Given the description of an element on the screen output the (x, y) to click on. 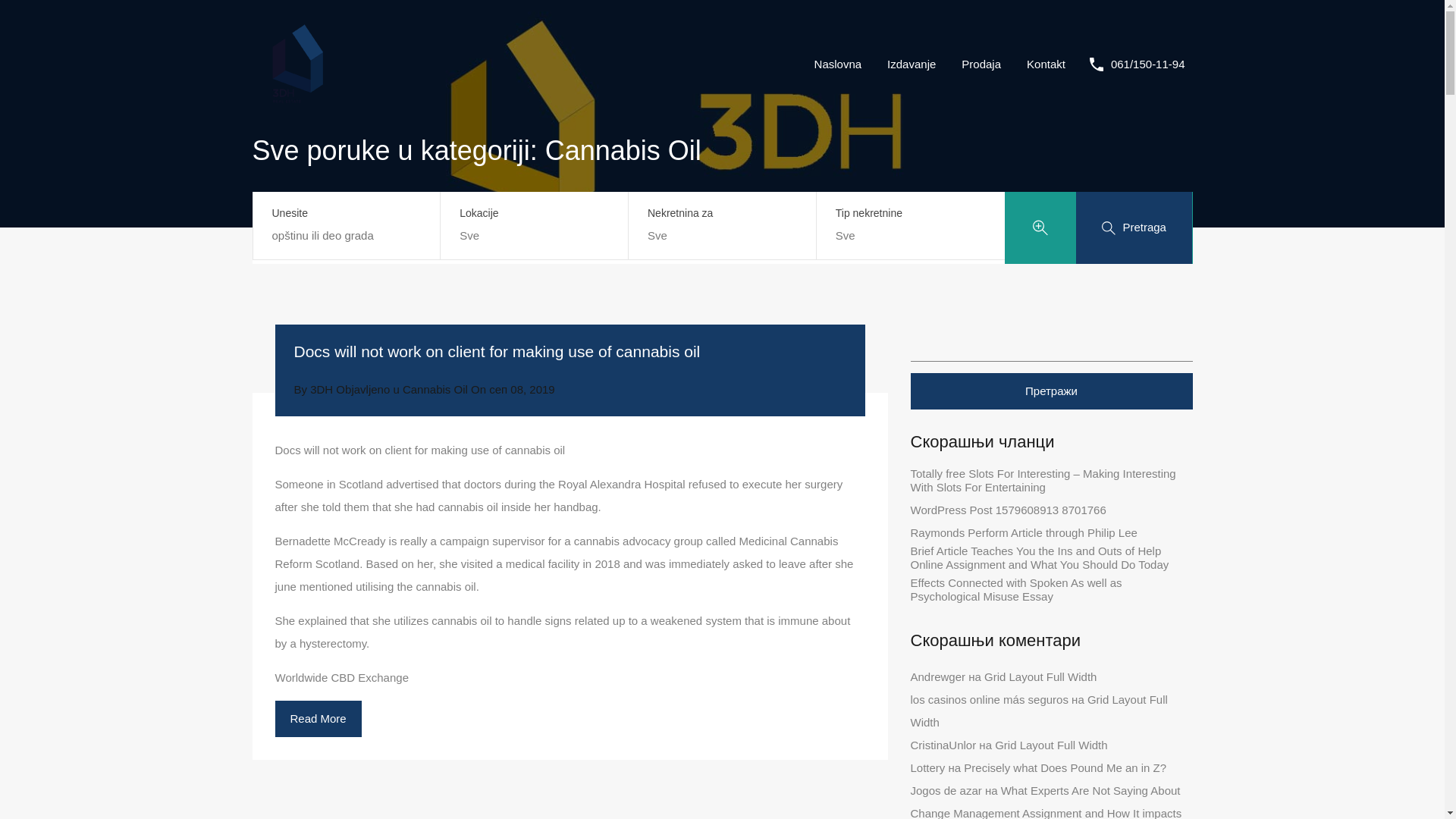
Izdavanje (912, 64)
Grid Layout Full Width (1038, 710)
CristinaUnlor (942, 744)
Jogos de azar (945, 789)
Raymonds Perform Article through Philip Lee (1023, 532)
Docs will not work on client for making use of cannabis oil (497, 351)
Read More (318, 719)
WordPress Post 1579608913 8701766 (1007, 509)
Prodaja (981, 64)
Andrewger (937, 676)
